Given the description of an element on the screen output the (x, y) to click on. 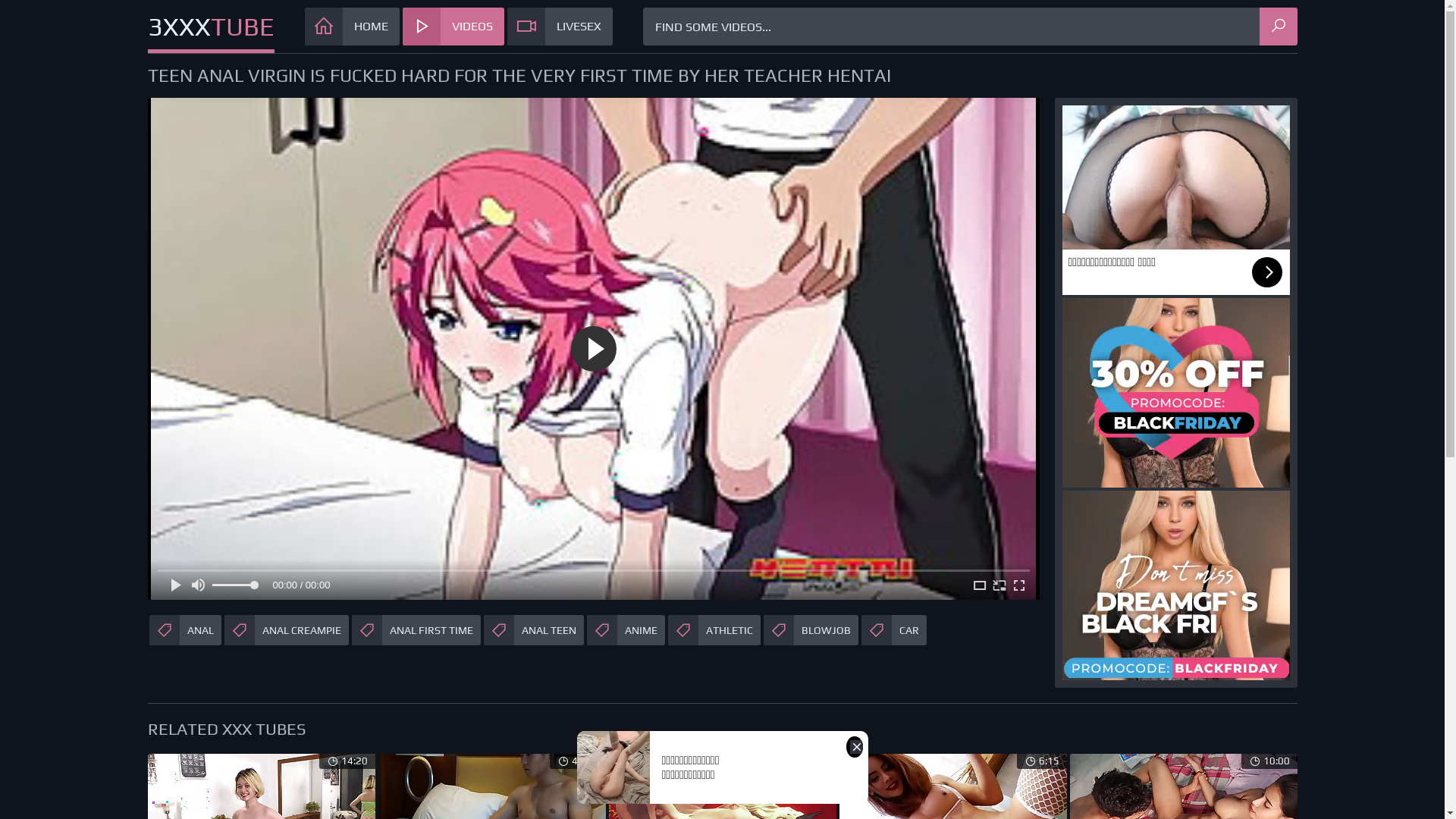
ANAL TEEN Element type: text (533, 629)
3XXXTUBE Element type: text (210, 28)
LIVESEX Element type: text (558, 26)
CAR Element type: text (893, 629)
Find Element type: hover (1277, 26)
BLOWJOB Element type: text (809, 629)
HOME Element type: text (351, 26)
ANAL CREAMPIE Element type: text (286, 629)
VIDEOS Element type: text (452, 26)
ATHLETIC Element type: text (713, 629)
ANAL Element type: text (184, 629)
ANIME Element type: text (625, 629)
ANAL FIRST TIME Element type: text (415, 629)
